Given the description of an element on the screen output the (x, y) to click on. 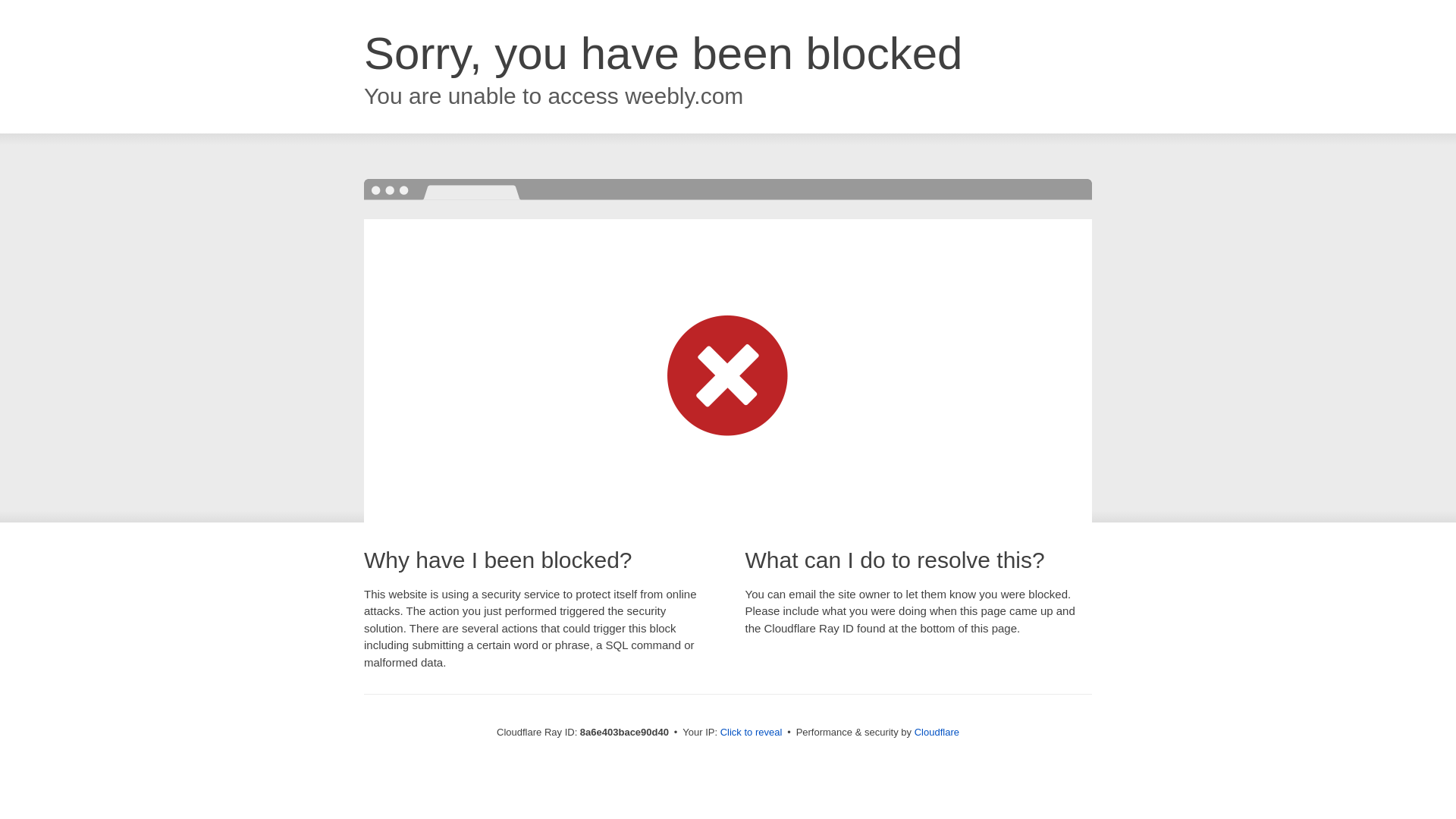
Click to reveal (751, 732)
Cloudflare (936, 731)
